Given the description of an element on the screen output the (x, y) to click on. 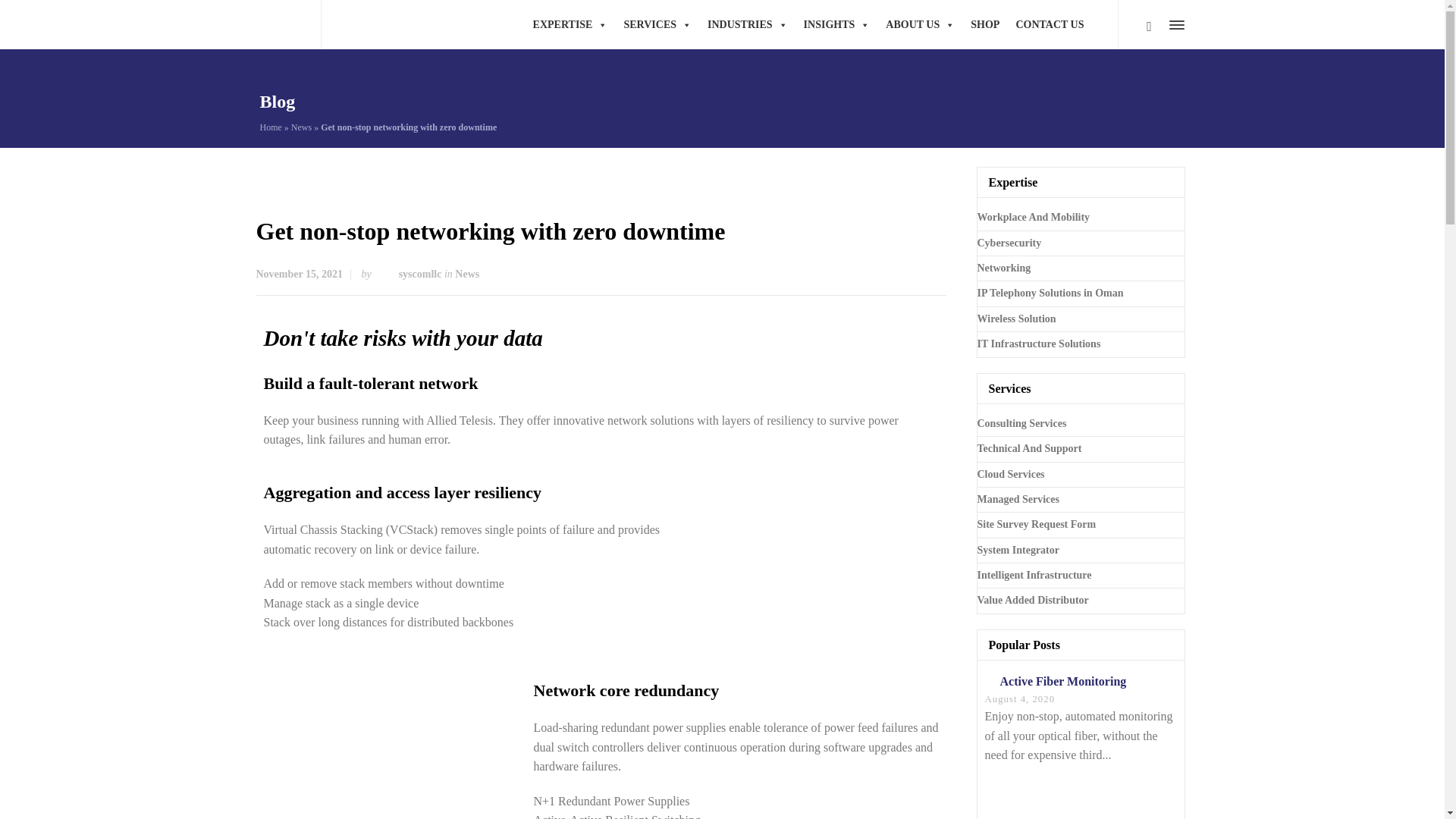
SERVICES (656, 24)
INSIGHTS (836, 24)
INDUSTRIES (747, 24)
EXPERTISE (570, 24)
